Given the description of an element on the screen output the (x, y) to click on. 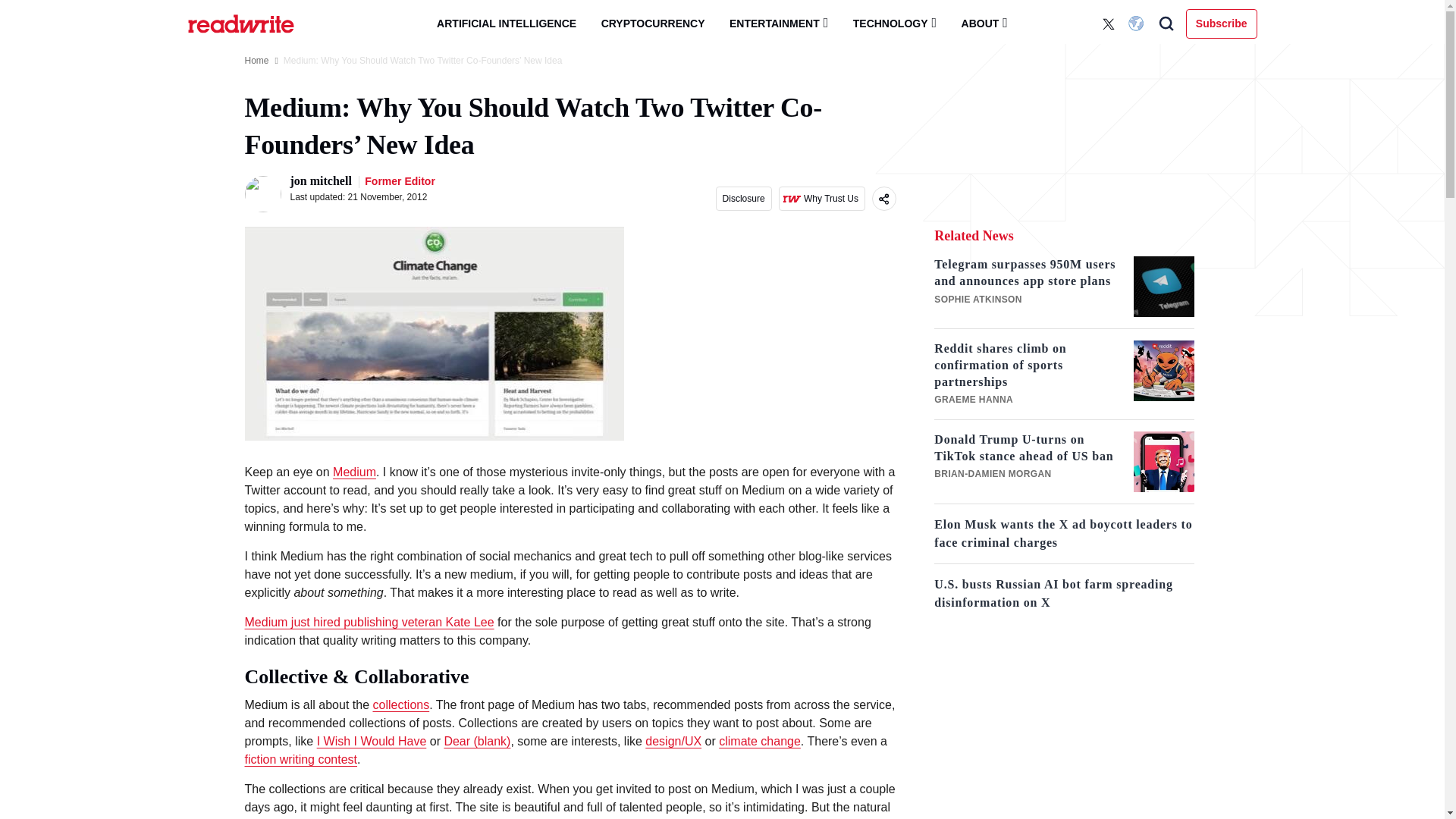
ENTERTAINMENT (778, 23)
TECHNOLOGY (895, 23)
Subscribe (1221, 23)
ARTIFICIAL INTELLIGENCE (506, 23)
English (1137, 23)
CRYPTOCURRENCY (653, 23)
ABOUT (983, 23)
Home (255, 60)
